Given the description of an element on the screen output the (x, y) to click on. 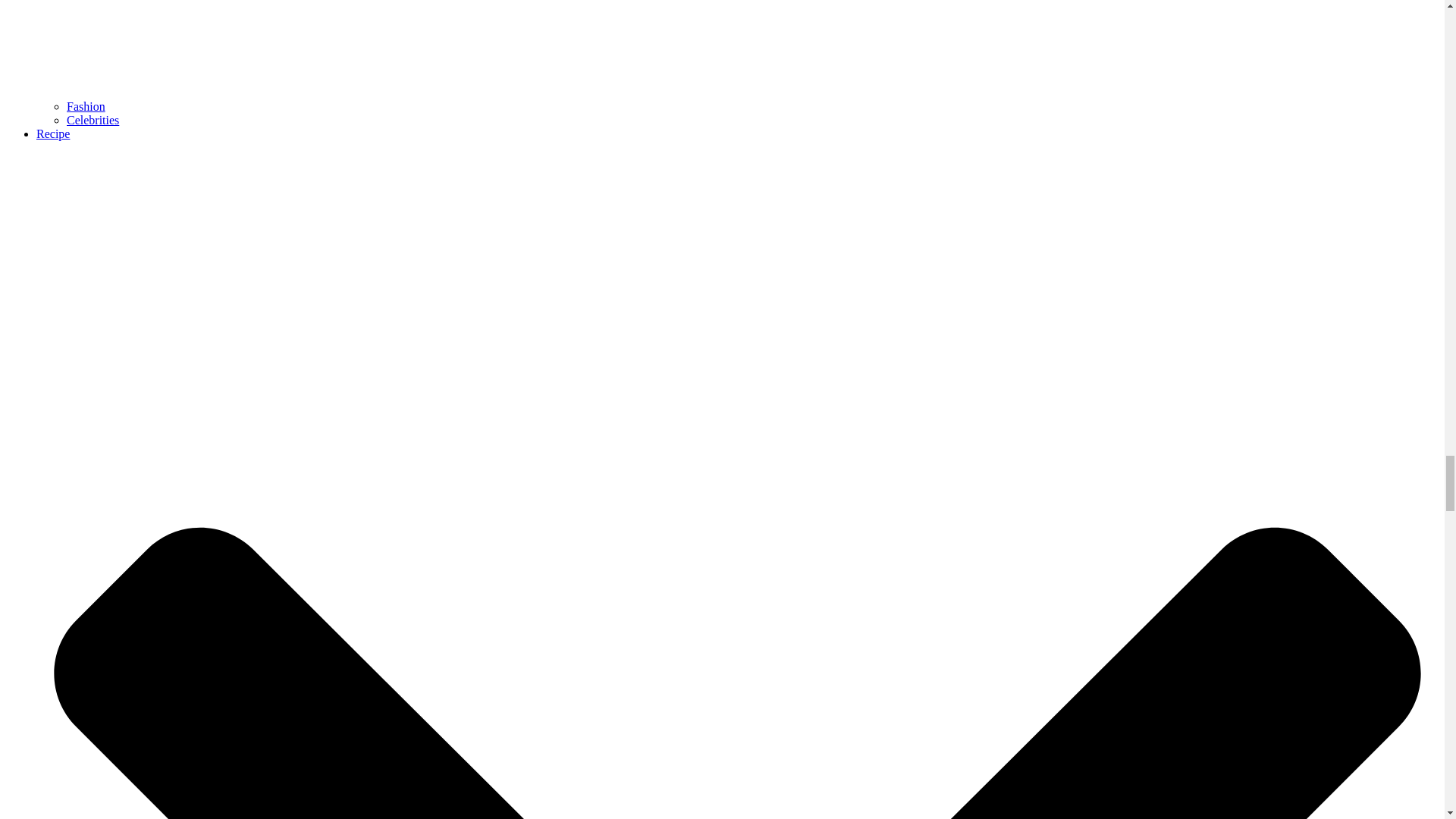
Fashion (85, 106)
Fashion (85, 106)
Celebrities (92, 119)
